Given the description of an element on the screen output the (x, y) to click on. 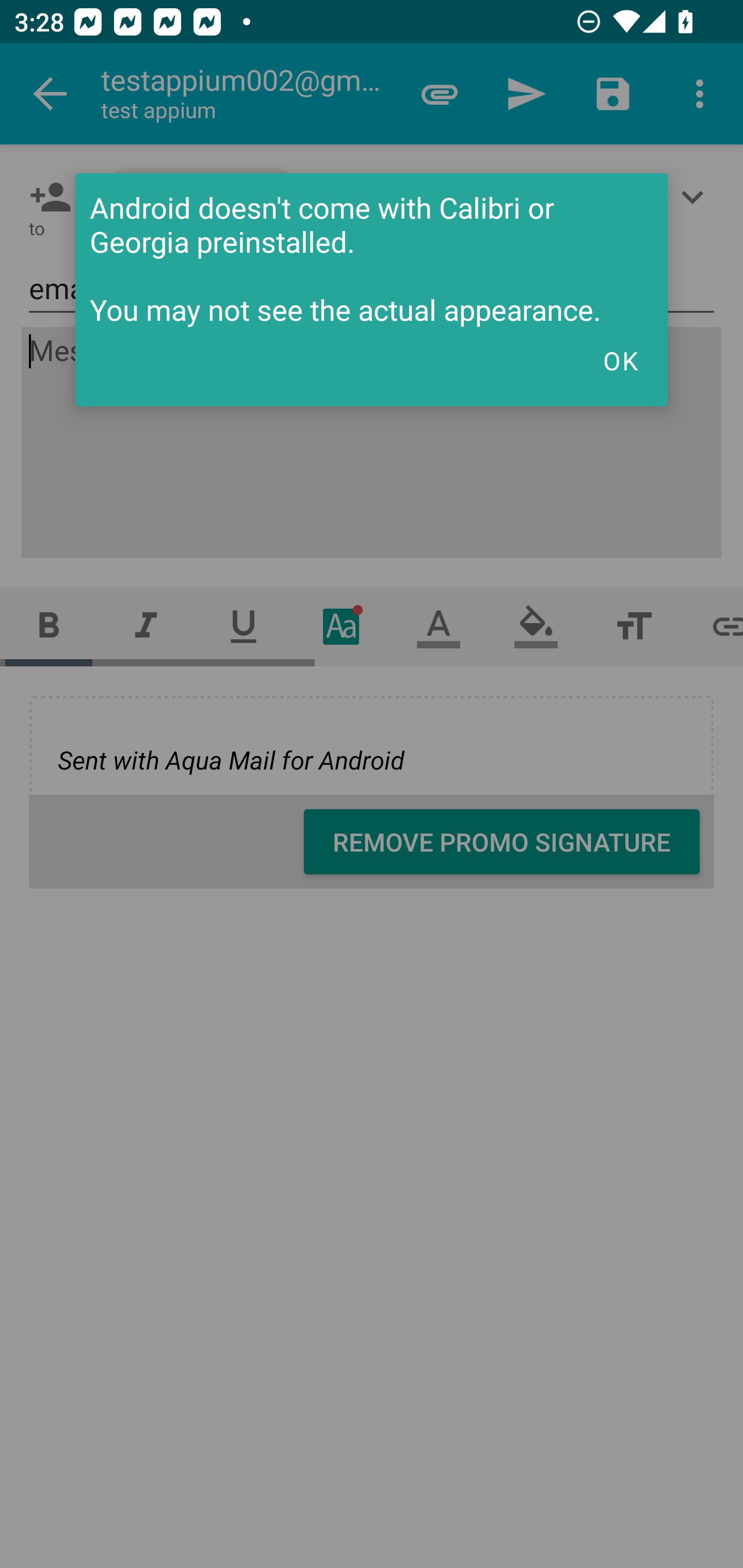
OK (620, 360)
